Given the description of an element on the screen output the (x, y) to click on. 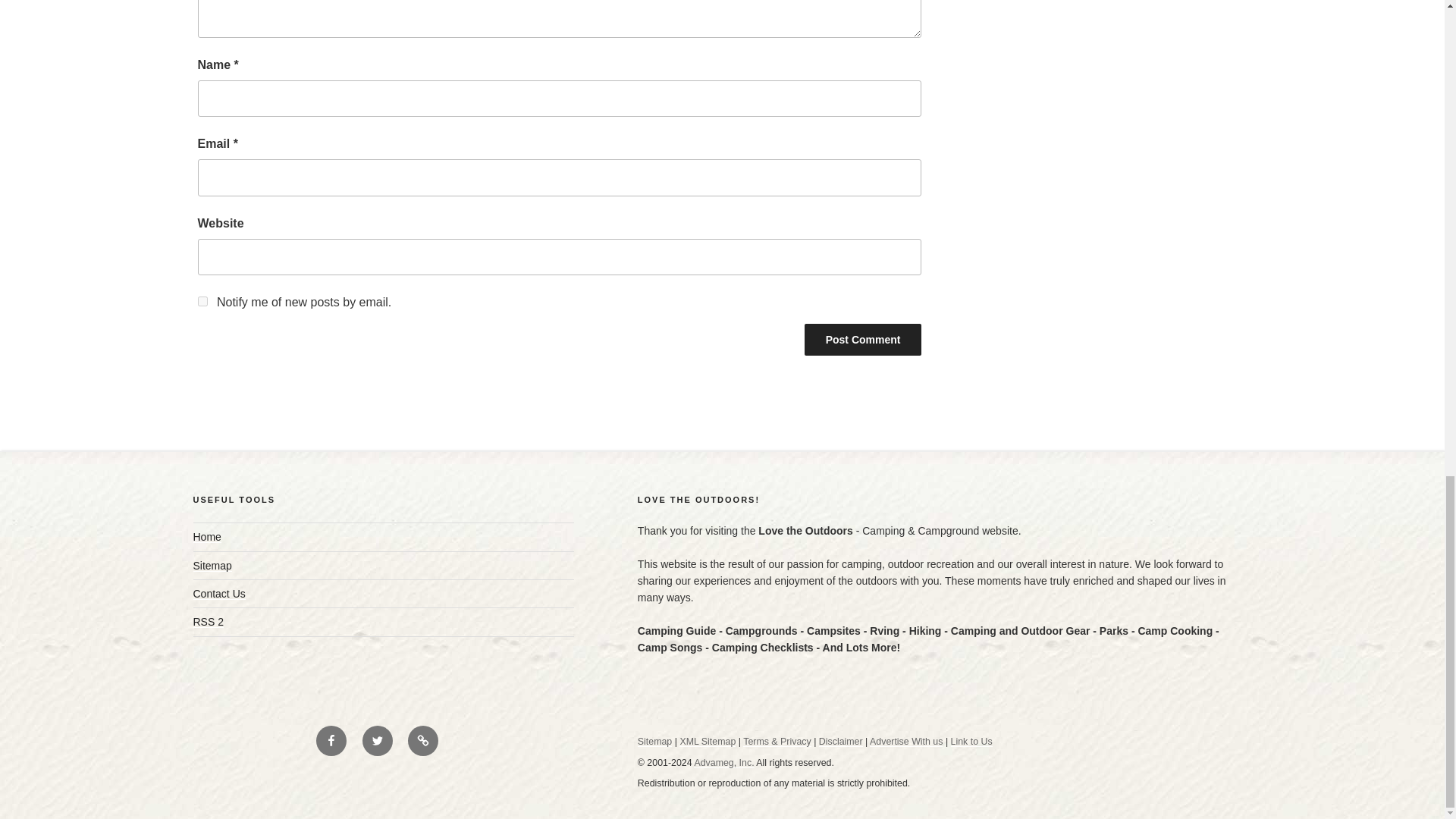
Post Comment (863, 339)
subscribe (201, 301)
Post Comment (863, 339)
